Given the description of an element on the screen output the (x, y) to click on. 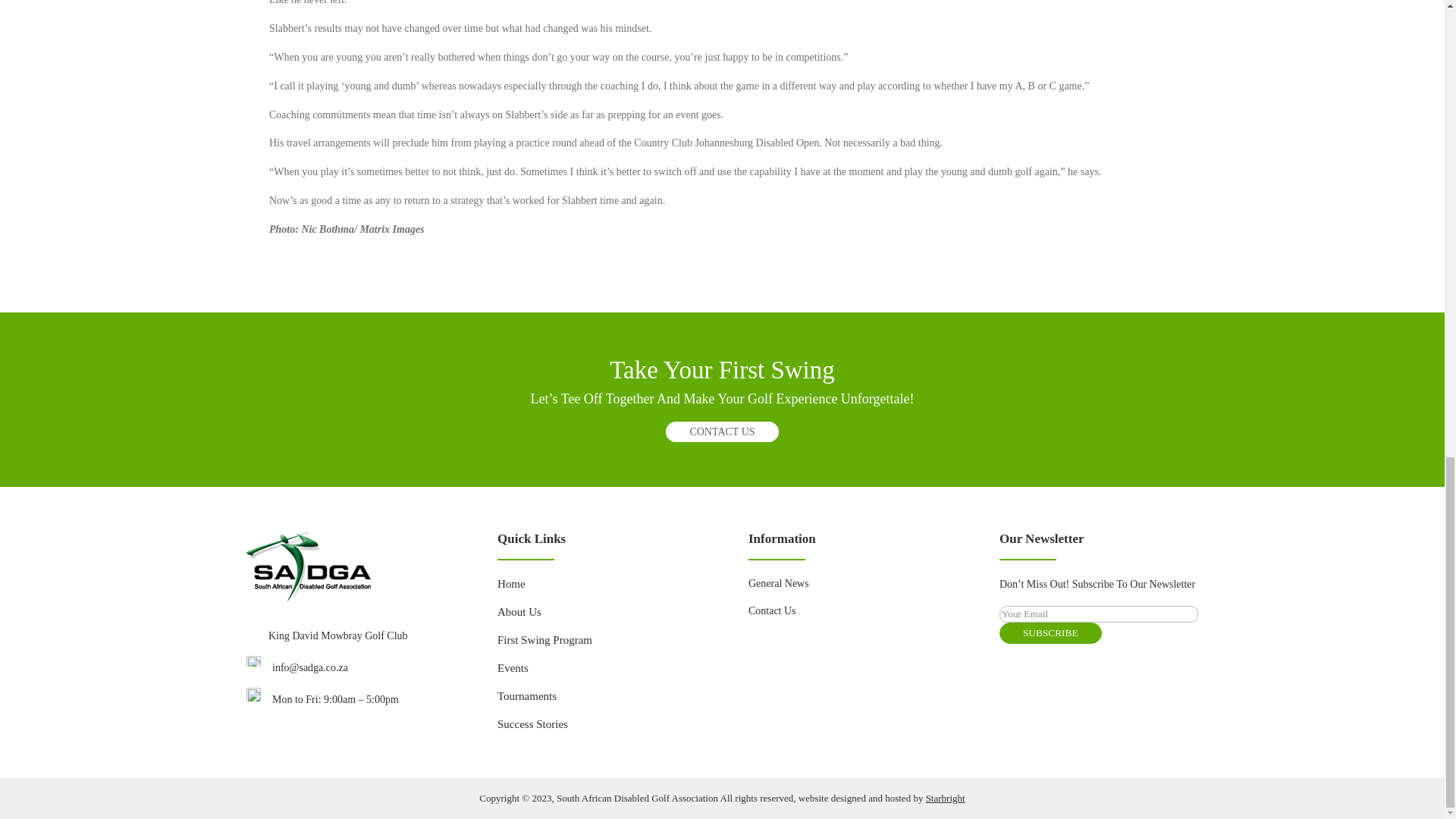
General News (778, 583)
CONTACT US (721, 431)
King David Mowbray Golf Club (337, 635)
First Swing Program (544, 639)
Tournaments (526, 695)
Home (511, 583)
Events (512, 667)
Success Stories (532, 724)
logo-black (308, 566)
About Us (519, 612)
